Given the description of an element on the screen output the (x, y) to click on. 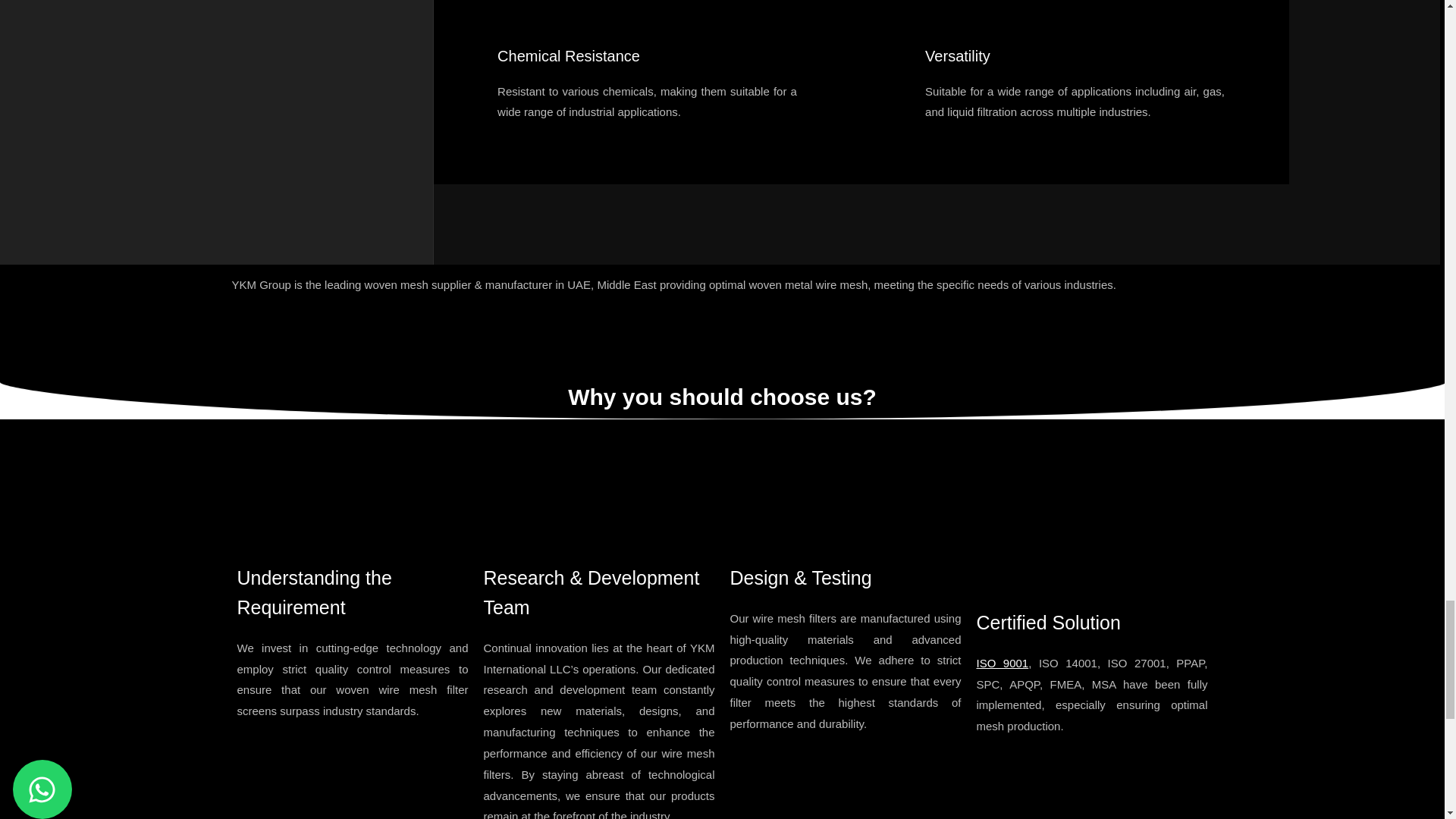
Woven Wire mesh filter (1092, 513)
YKM Team Discussion with Client (351, 490)
YKM Group Research and Development Team (598, 490)
YKM Quality Check (845, 490)
